Given the description of an element on the screen output the (x, y) to click on. 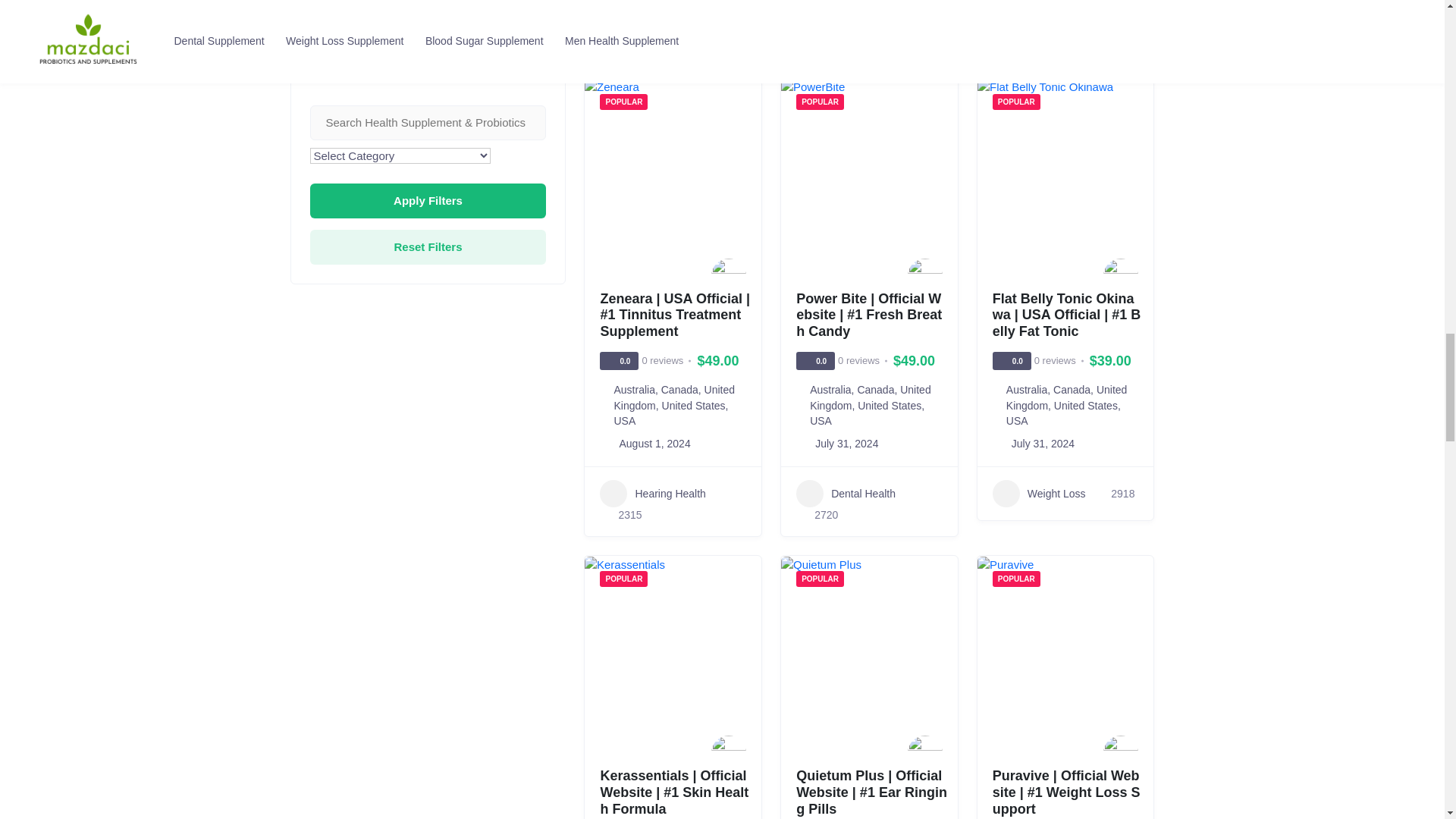
Show Map (333, 35)
Australia (632, 389)
Sort By (424, 36)
Apply Filters (427, 200)
Reset Filters (427, 247)
